Given the description of an element on the screen output the (x, y) to click on. 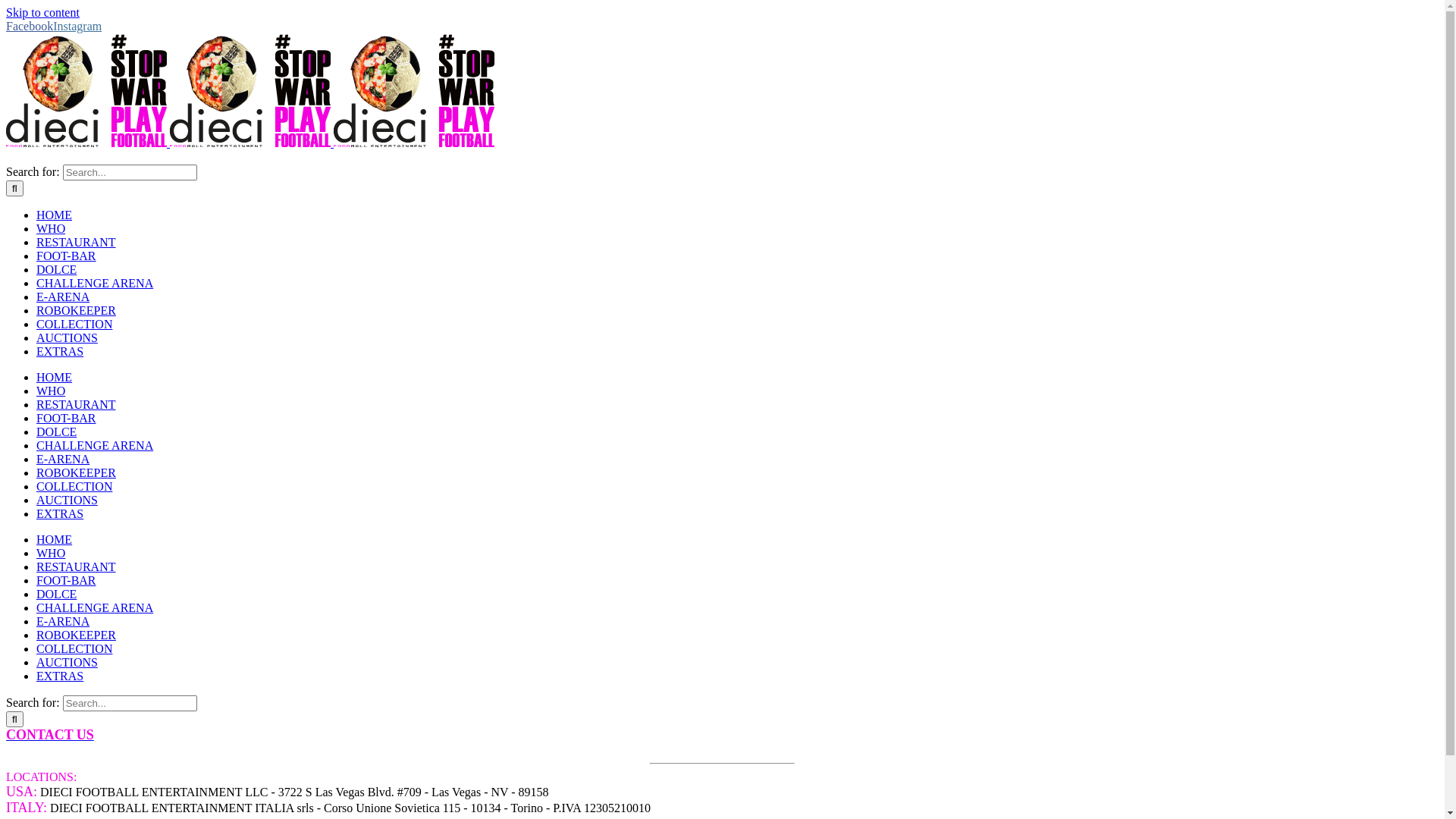
Skip to content Element type: text (42, 12)
RESTAURANT Element type: text (76, 241)
CHALLENGE ARENA Element type: text (94, 445)
AUCTIONS Element type: text (66, 499)
FOOT-BAR Element type: text (66, 580)
EXTRAS Element type: text (59, 513)
AUCTIONS Element type: text (66, 337)
E-ARENA Element type: text (62, 621)
DOLCE Element type: text (56, 593)
COLLECTION Element type: text (74, 323)
EXTRAS Element type: text (59, 675)
RESTAURANT Element type: text (76, 566)
RESTAURANT Element type: text (76, 404)
WHO Element type: text (50, 228)
AUCTIONS Element type: text (66, 661)
HOME Element type: text (54, 376)
CHALLENGE ARENA Element type: text (94, 607)
ROBOKEEPER Element type: text (76, 310)
ROBOKEEPER Element type: text (76, 472)
DOLCE Element type: text (56, 431)
Instagram Element type: text (77, 25)
FOOT-BAR Element type: text (66, 417)
E-ARENA Element type: text (62, 458)
COLLECTION Element type: text (74, 486)
COLLECTION Element type: text (74, 648)
CHALLENGE ARENA Element type: text (94, 282)
DOLCE Element type: text (56, 269)
CONTACT US Element type: text (50, 734)
FOOT-BAR Element type: text (66, 255)
WHO Element type: text (50, 552)
WHO Element type: text (50, 390)
ROBOKEEPER Element type: text (76, 634)
Facebook Element type: text (29, 25)
HOME Element type: text (54, 539)
EXTRAS Element type: text (59, 351)
E-ARENA Element type: text (62, 296)
HOME Element type: text (54, 214)
